Given the description of an element on the screen output the (x, y) to click on. 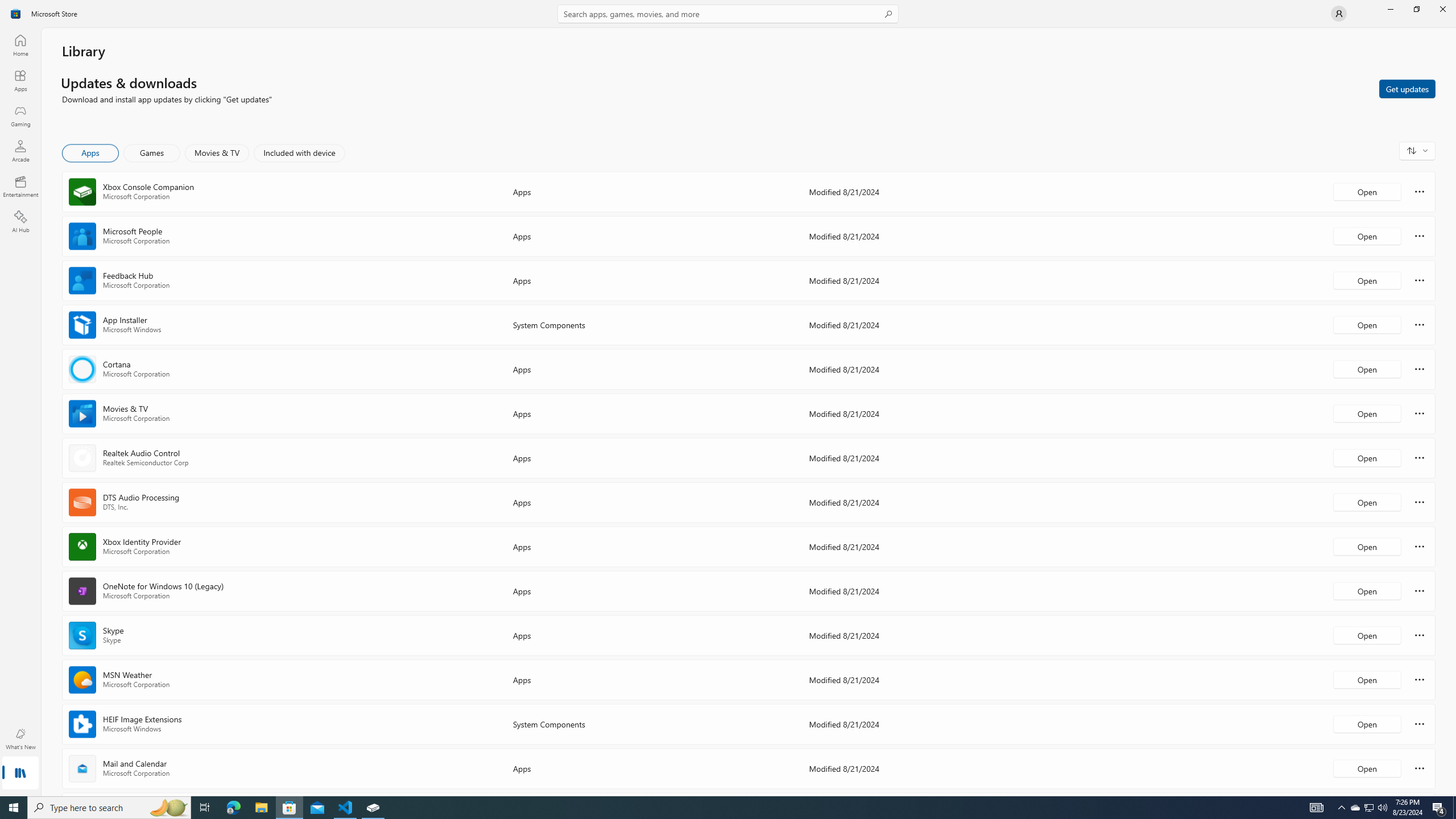
More options (1419, 768)
Search (727, 13)
AutomationID: NavigationControl (728, 398)
Get updates (1406, 88)
Open (1366, 768)
